Given the description of an element on the screen output the (x, y) to click on. 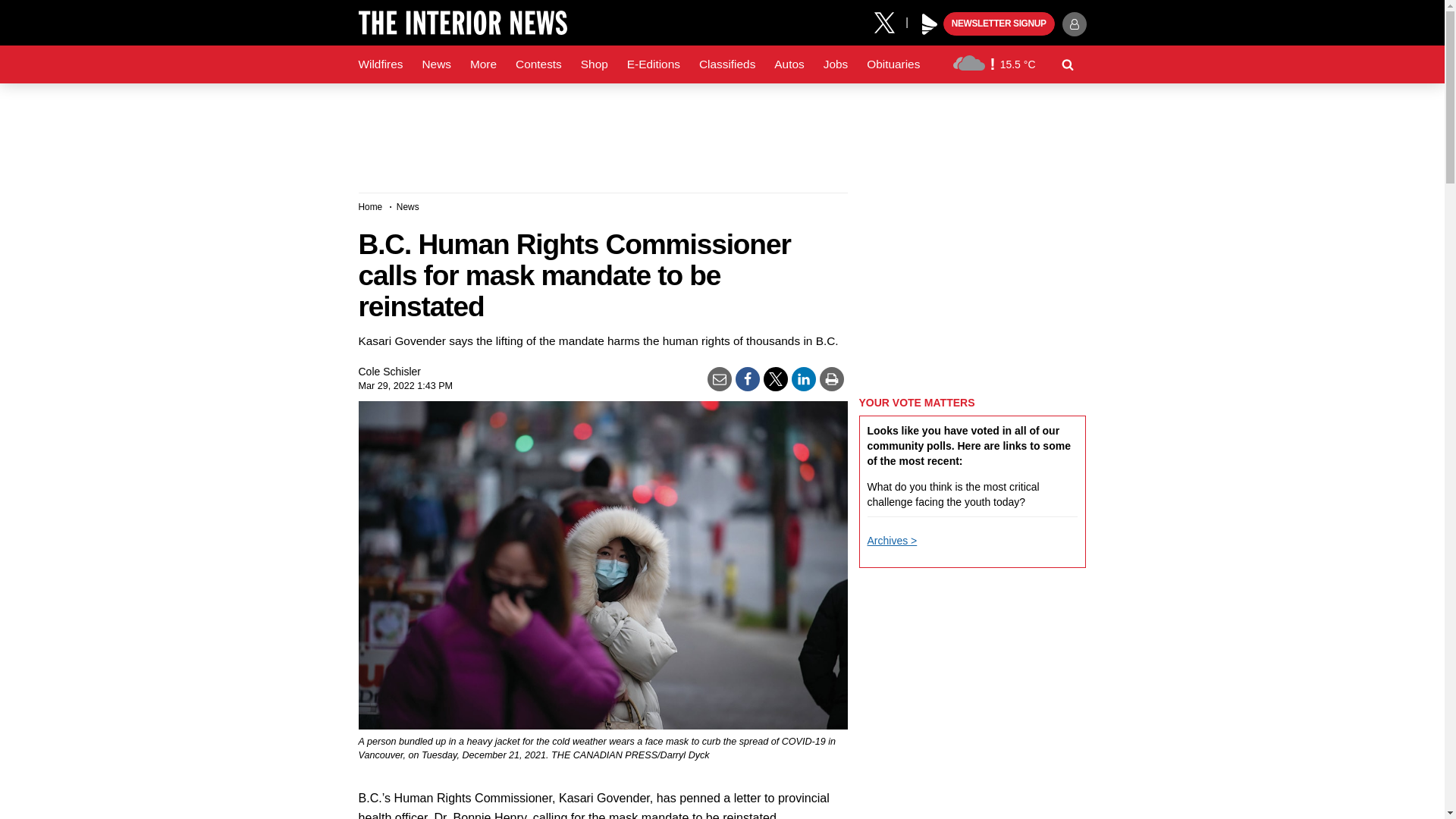
NEWSLETTER SIGNUP (998, 24)
Wildfires (380, 64)
X (889, 21)
News (435, 64)
Play (929, 24)
Black Press Media (929, 24)
